Given the description of an element on the screen output the (x, y) to click on. 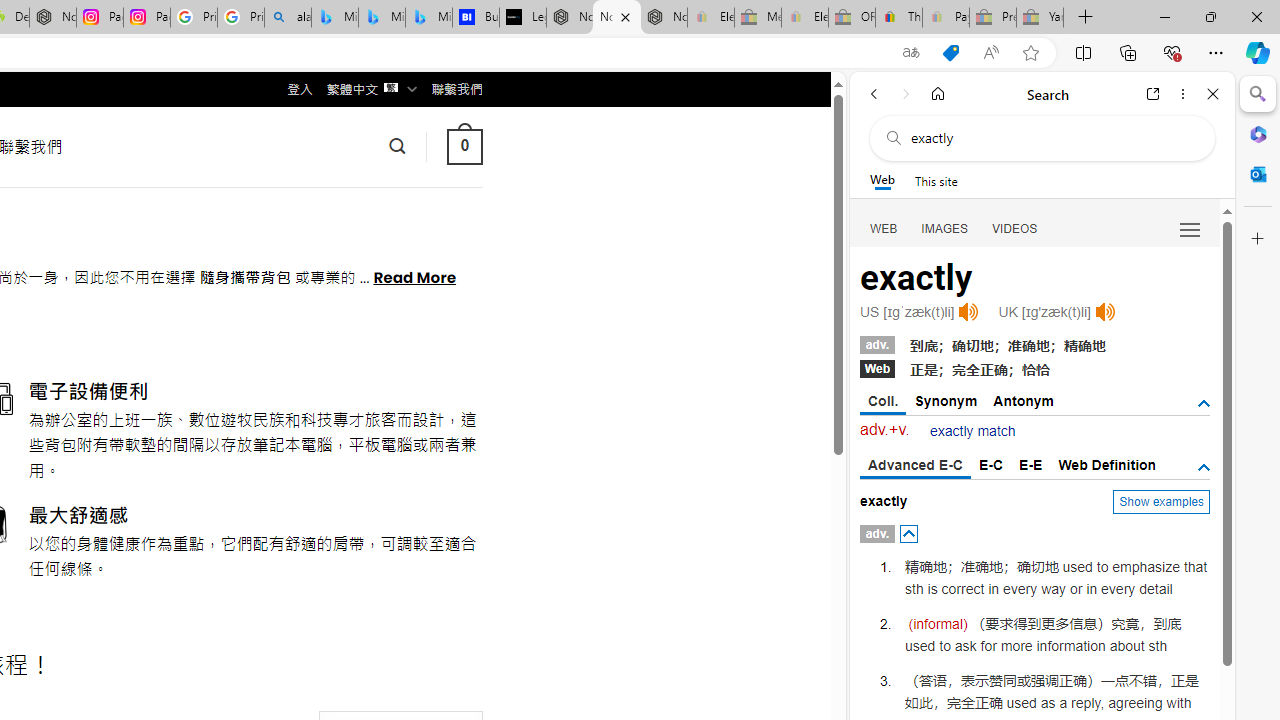
Microsoft Bing Travel - Flights from Hong Kong to Bangkok (335, 17)
Search Filter, WEB (884, 228)
AutomationID: posbtn_0 (908, 533)
exactly match (973, 431)
Read More (414, 276)
  0   (464, 146)
alabama high school quarterback dies - Search (288, 17)
